Given the description of an element on the screen output the (x, y) to click on. 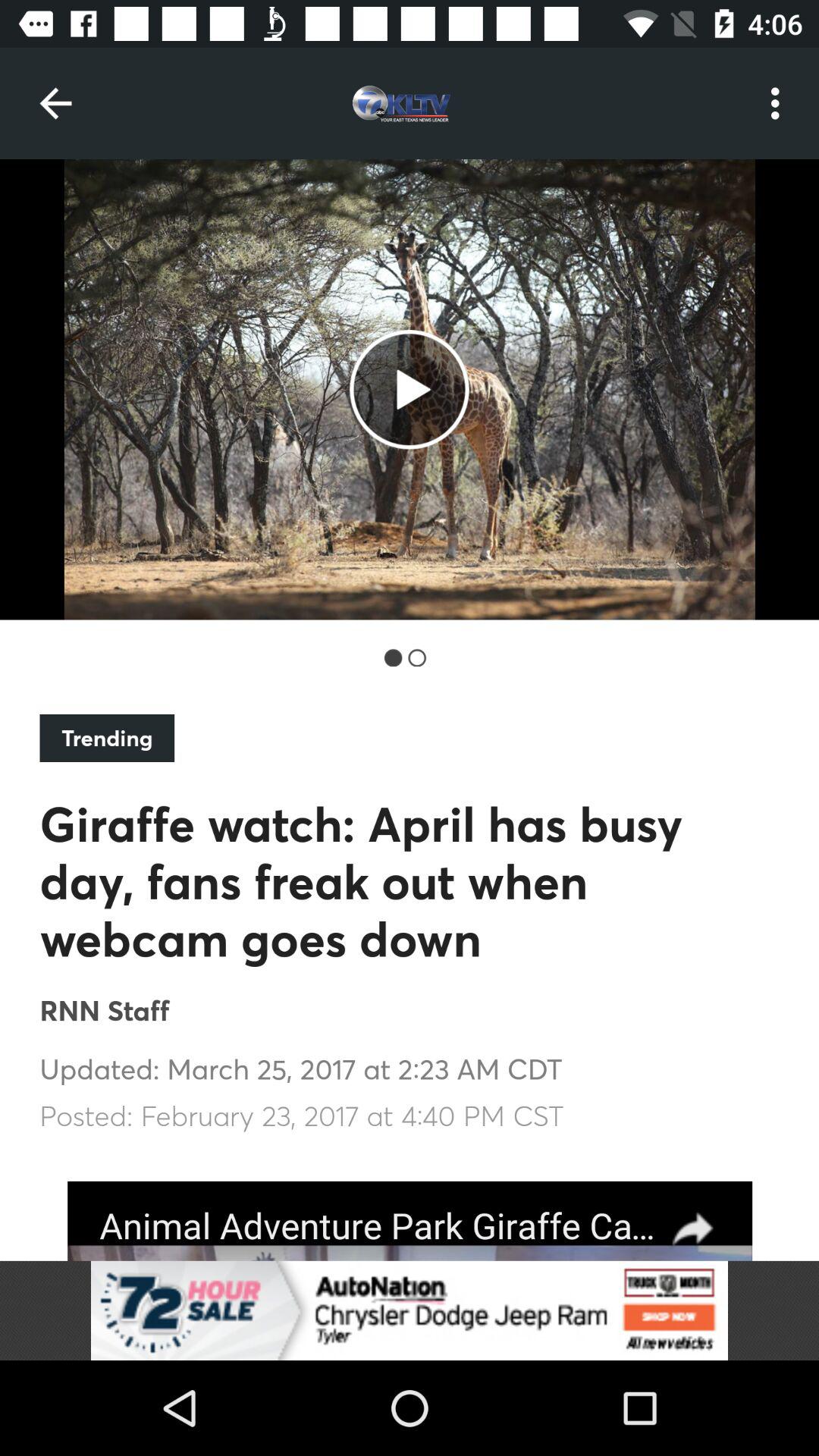
go to advertised company (409, 1220)
